Given the description of an element on the screen output the (x, y) to click on. 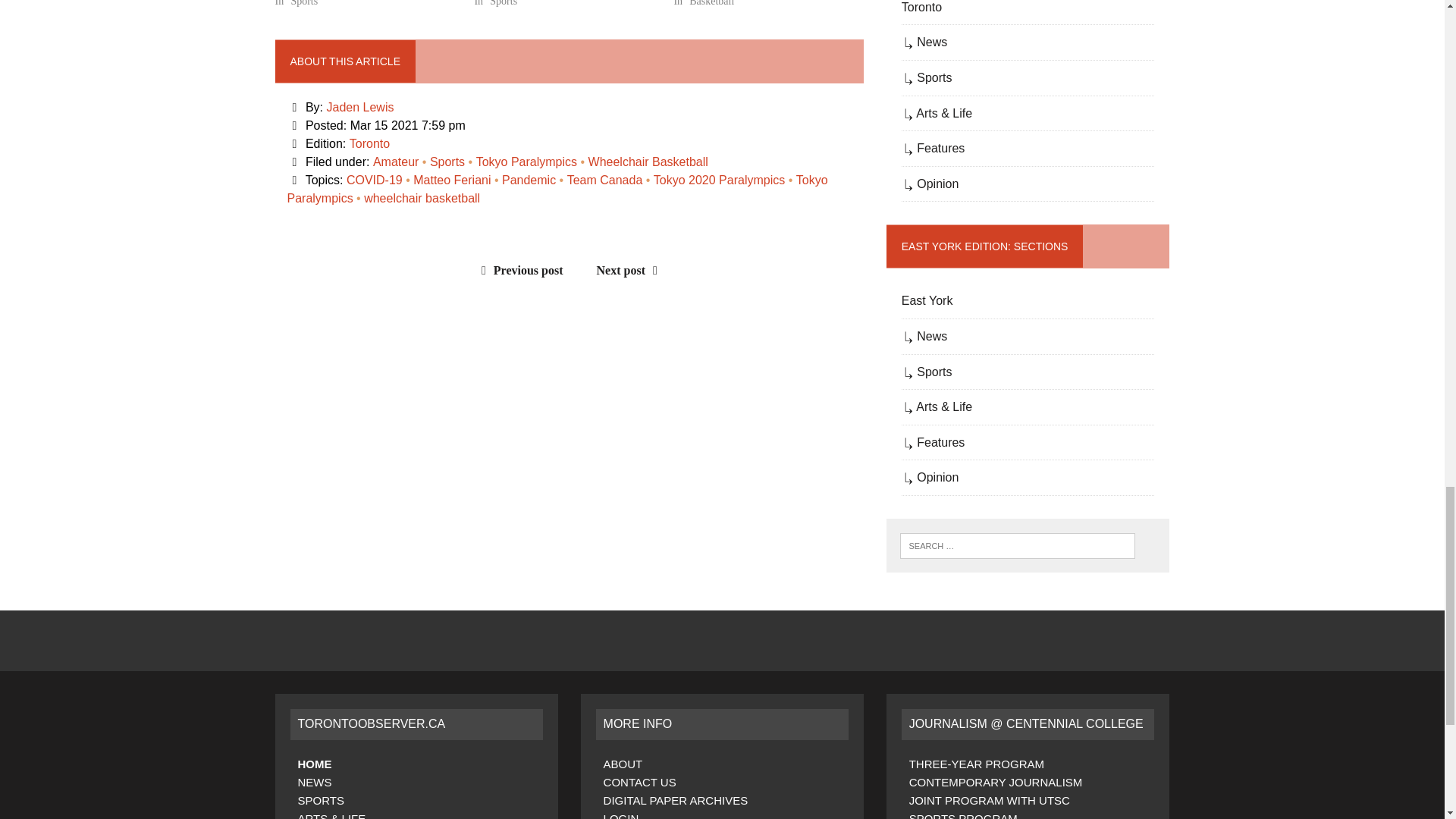
Posts by Jaden Lewis (360, 106)
